Given the description of an element on the screen output the (x, y) to click on. 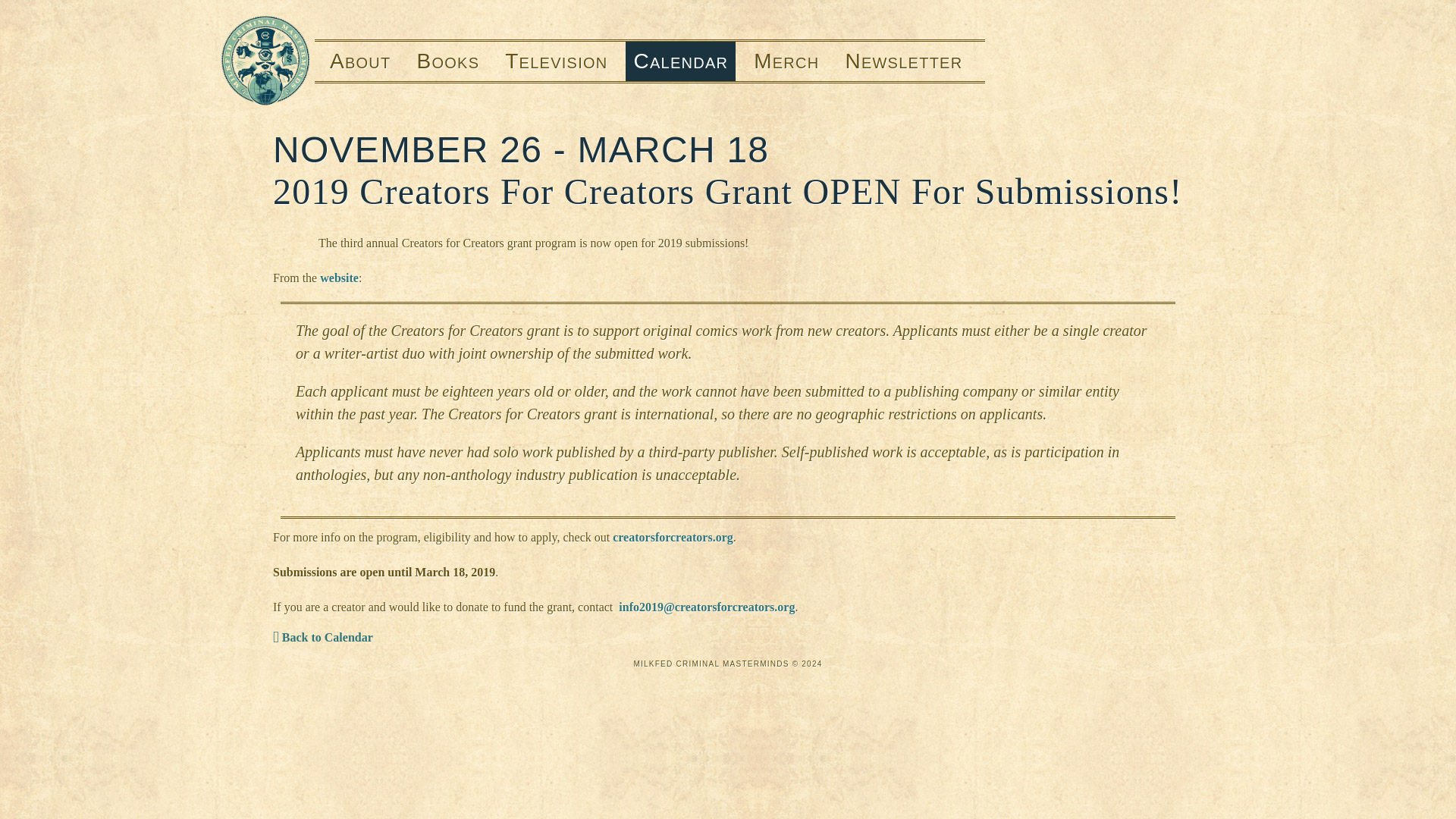
CALENDAR (680, 61)
BOOKS (448, 61)
NEWSLETTER (906, 61)
creatorsforcreators.org (672, 536)
website (339, 277)
ABOUT (356, 61)
Back to Calendar (322, 636)
MERCH (786, 61)
TELEVISION (555, 61)
Milkfed Criminal Master Minds (265, 60)
